Given the description of an element on the screen output the (x, y) to click on. 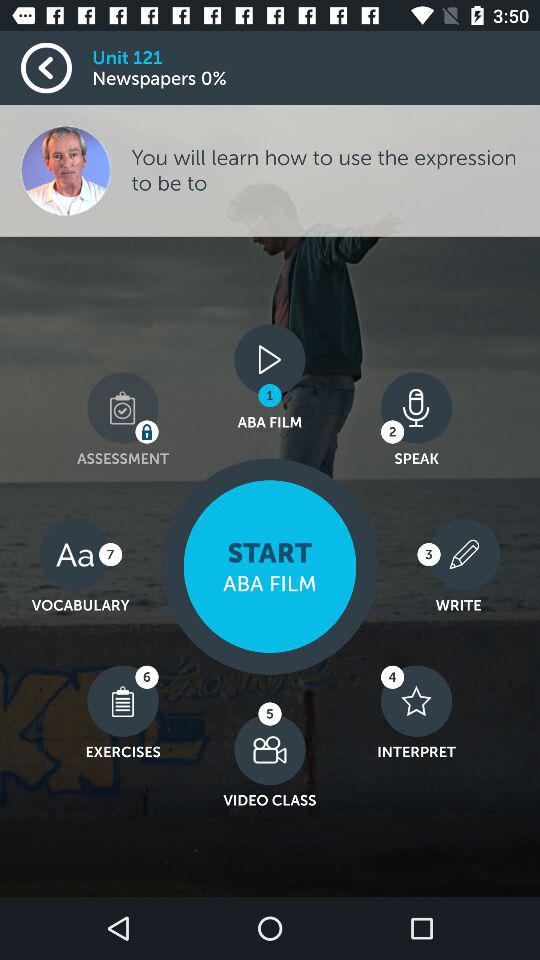
go back (56, 67)
